Given the description of an element on the screen output the (x, y) to click on. 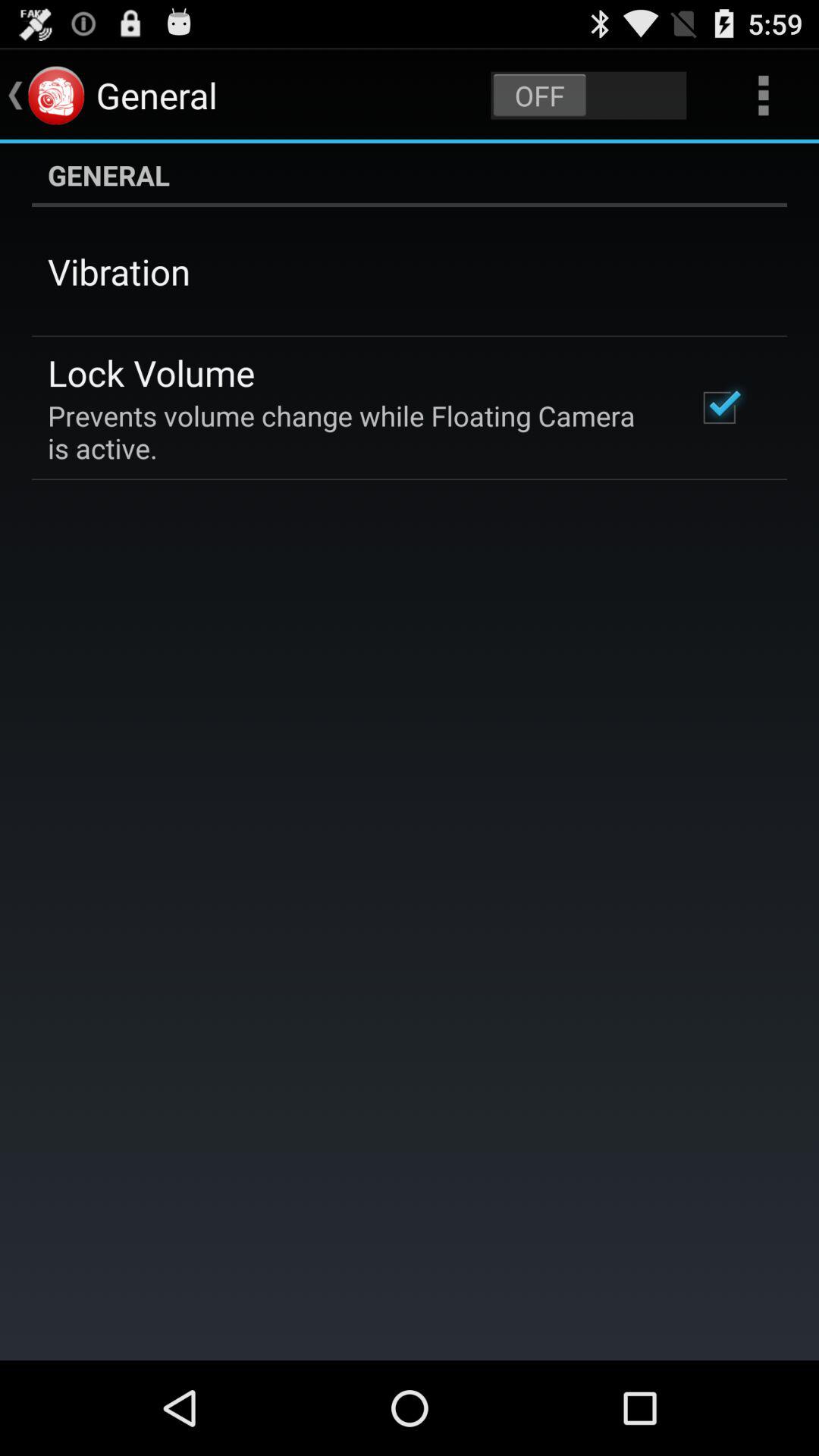
flip until vibration item (118, 271)
